Given the description of an element on the screen output the (x, y) to click on. 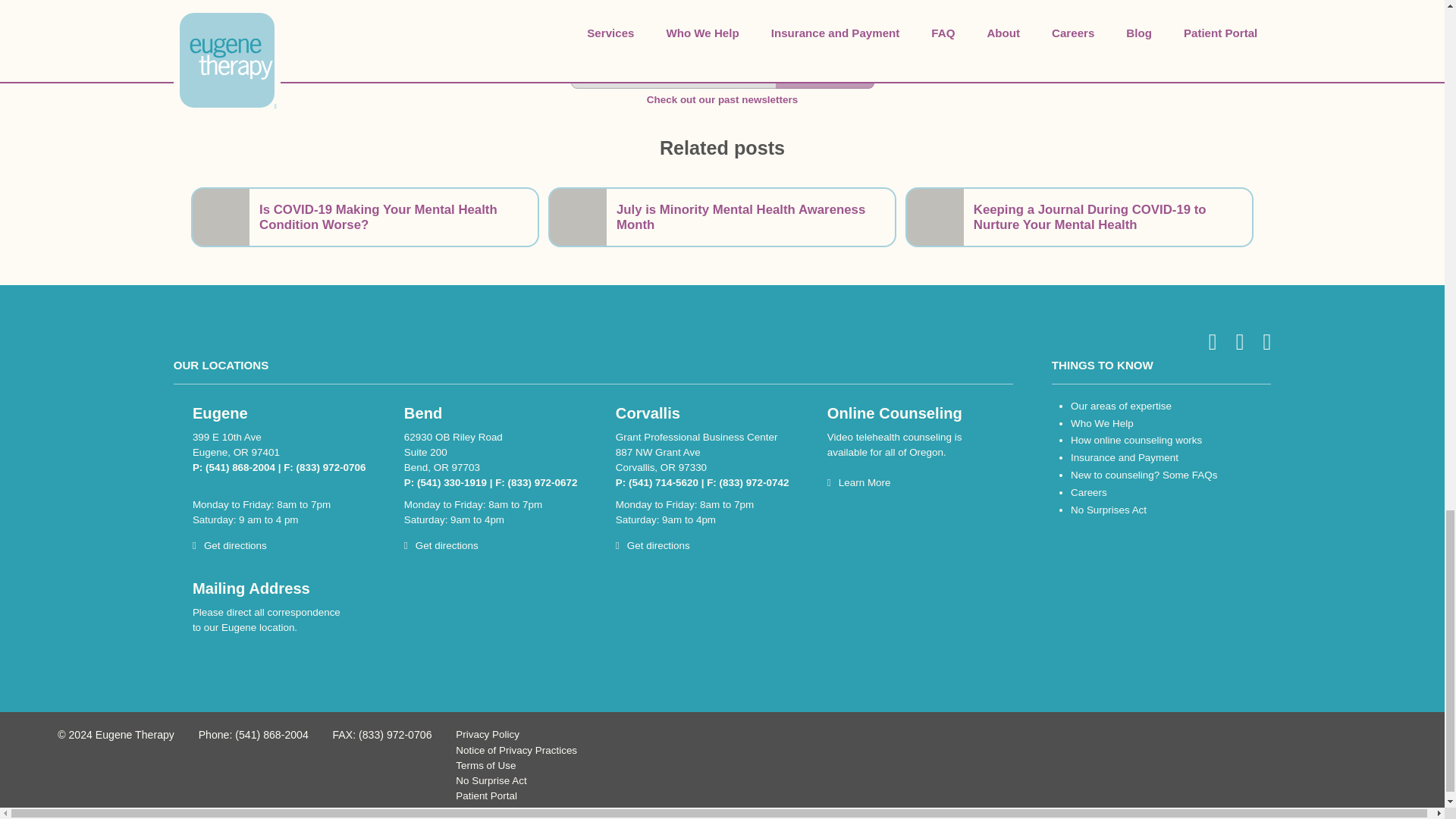
Mental health (722, 7)
New to counseling? Some FAQs (1143, 474)
July is Minority Mental Health Awareness Month (721, 217)
Is COVID-19 Making Your Mental Health Condition Worse? (364, 217)
Who We Help (1102, 423)
Get directions (652, 545)
Check out our past newsletters (721, 99)
Sign me up (823, 71)
How online counseling works (1136, 439)
Get directions (229, 545)
